Given the description of an element on the screen output the (x, y) to click on. 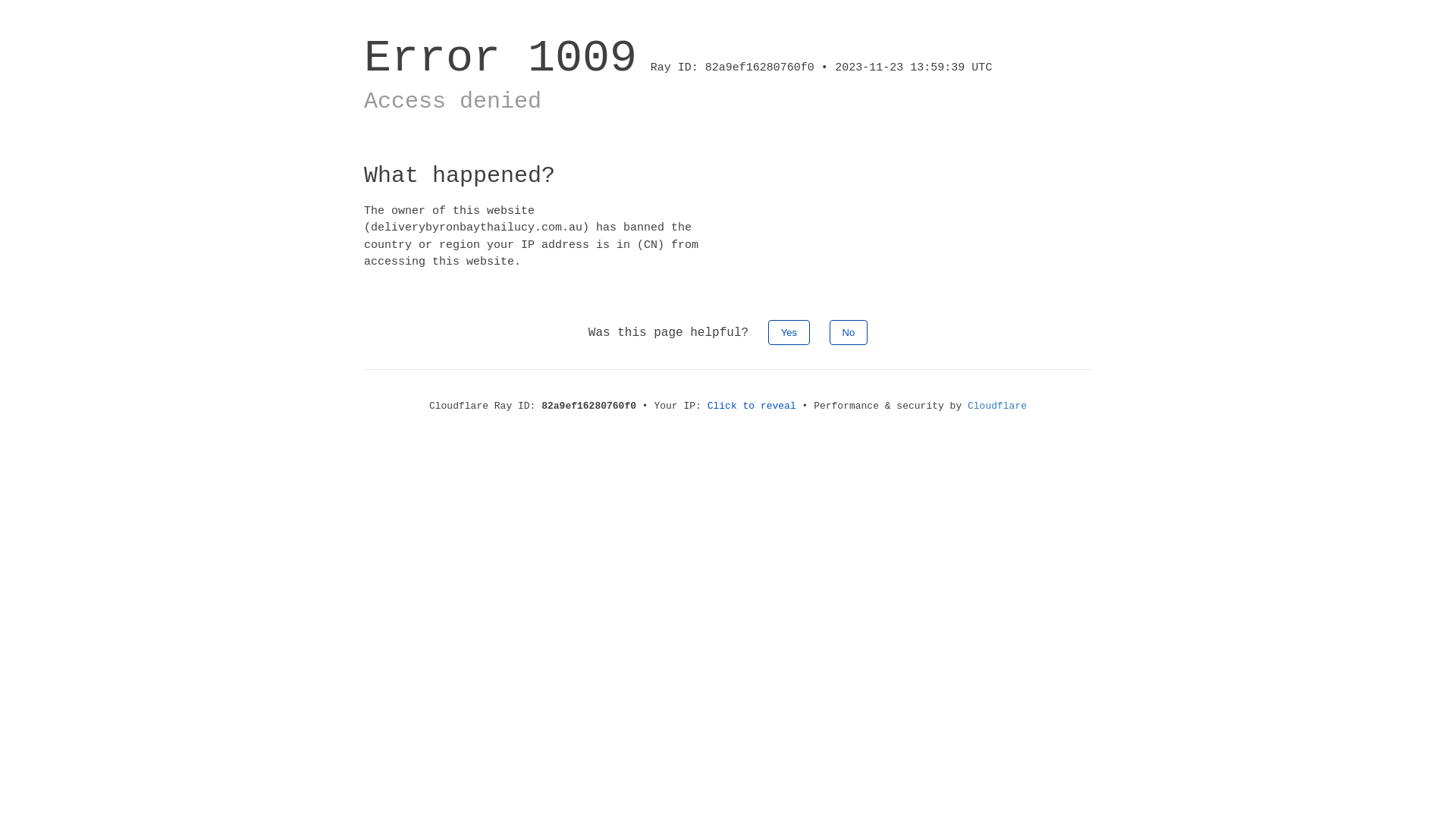
Click to reveal Element type: text (751, 405)
No Element type: text (848, 332)
Yes Element type: text (788, 332)
Cloudflare Element type: text (996, 405)
